Given the description of an element on the screen output the (x, y) to click on. 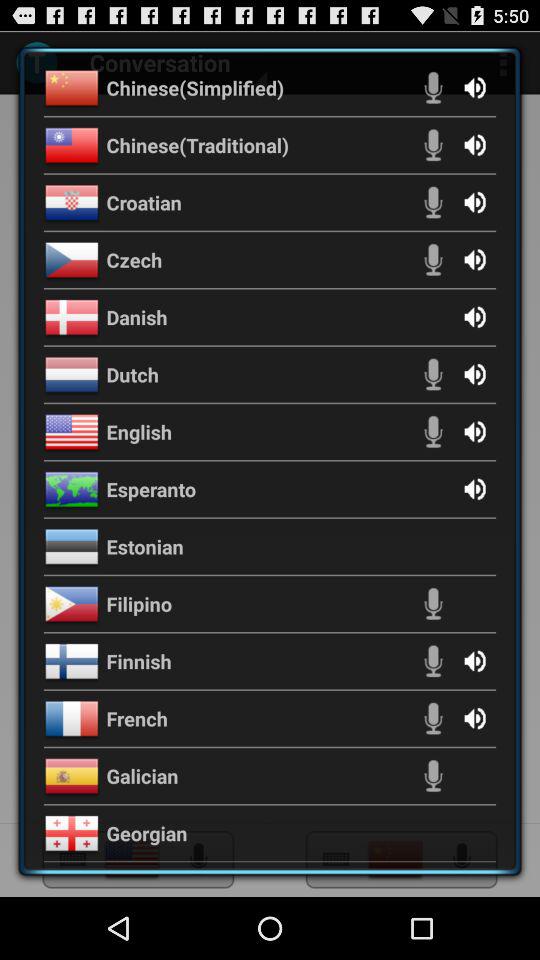
choose app above english item (132, 374)
